Given the description of an element on the screen output the (x, y) to click on. 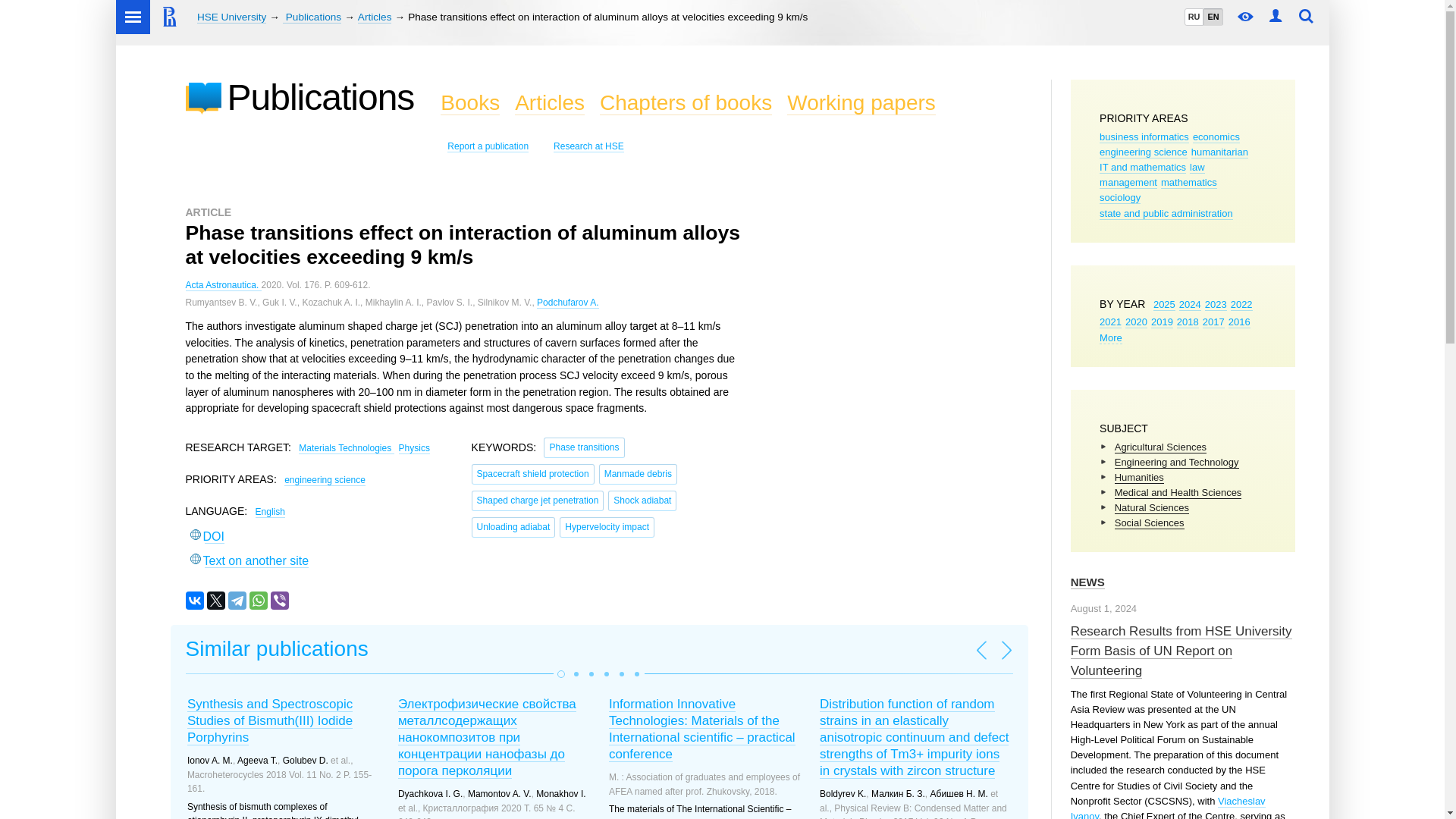
2024 (1190, 304)
EN (1212, 17)
RU (1194, 17)
2022 (1241, 304)
economics (1216, 137)
HSE University (231, 17)
2020 (1136, 322)
mathematics (1188, 182)
humanitarian (1219, 152)
Publications (311, 17)
state and public administration (1166, 214)
2025 (1163, 304)
business informatics (1144, 137)
sociology (1119, 197)
2023 (1216, 304)
